Given the description of an element on the screen output the (x, y) to click on. 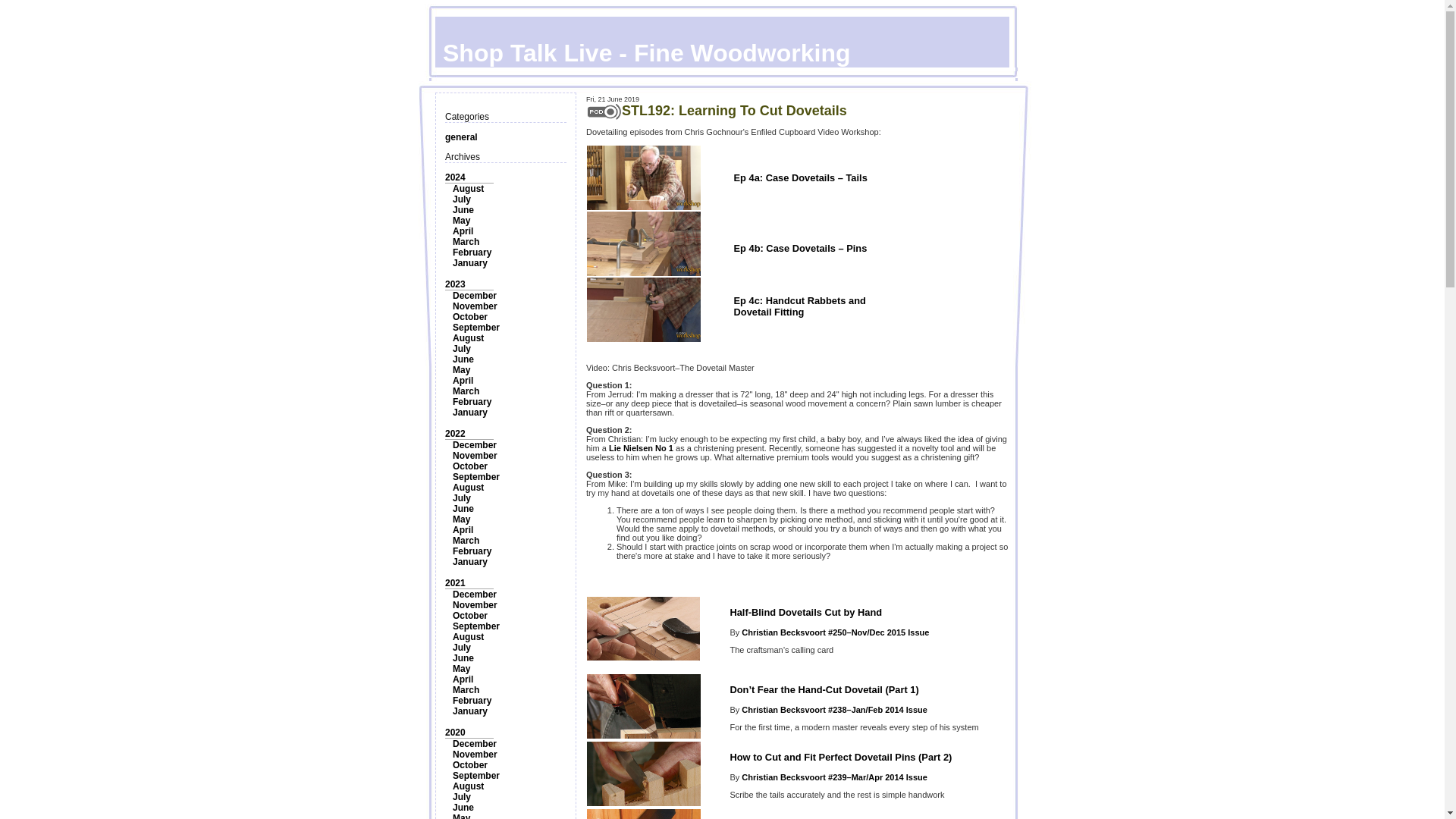
April (462, 231)
general (461, 136)
May (461, 369)
July (461, 348)
October (469, 466)
June (463, 508)
November (474, 455)
April (462, 529)
February (472, 252)
June (463, 209)
